Given the description of an element on the screen output the (x, y) to click on. 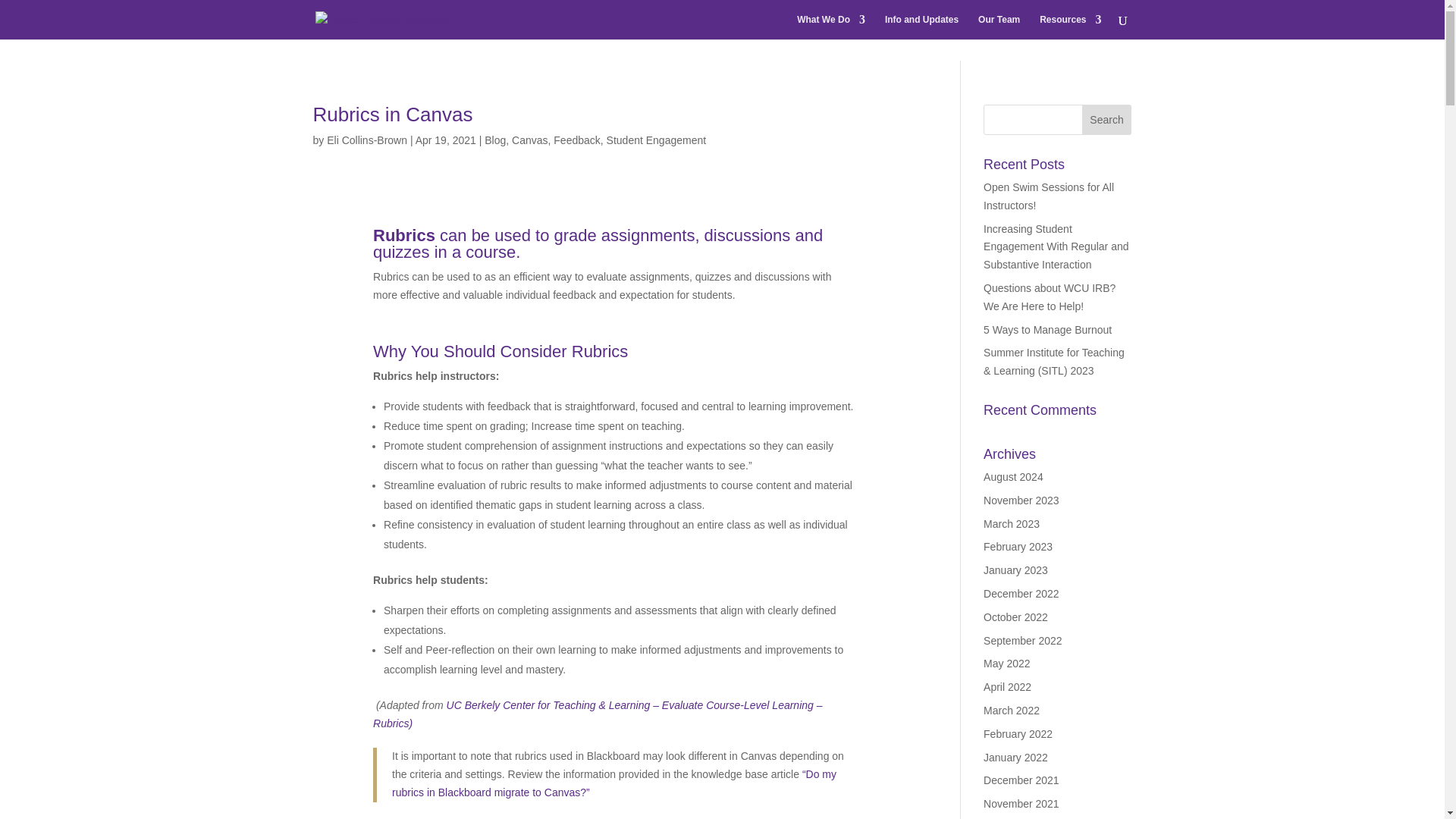
Eli Collins-Brown (366, 140)
Canvas (529, 140)
Blog (494, 140)
Posts by Eli Collins-Brown (366, 140)
Student Engagement (656, 140)
Rubrics in Canvas (392, 114)
Search (1106, 119)
Our Team (999, 26)
Resources (1069, 26)
Info and Updates (921, 26)
